Given the description of an element on the screen output the (x, y) to click on. 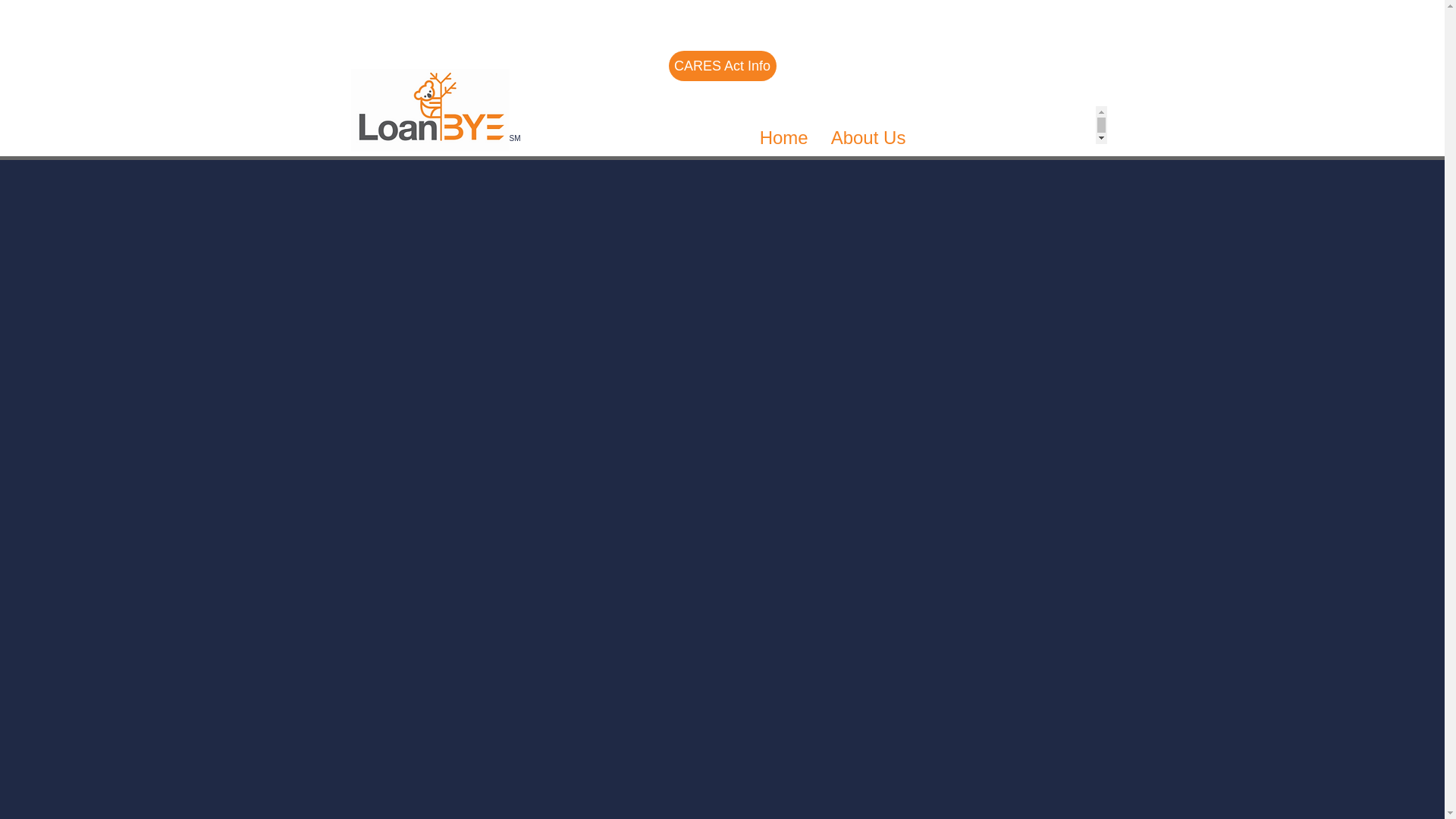
About Us (868, 143)
CARES Act Info (722, 65)
Home (783, 143)
